Given the description of an element on the screen output the (x, y) to click on. 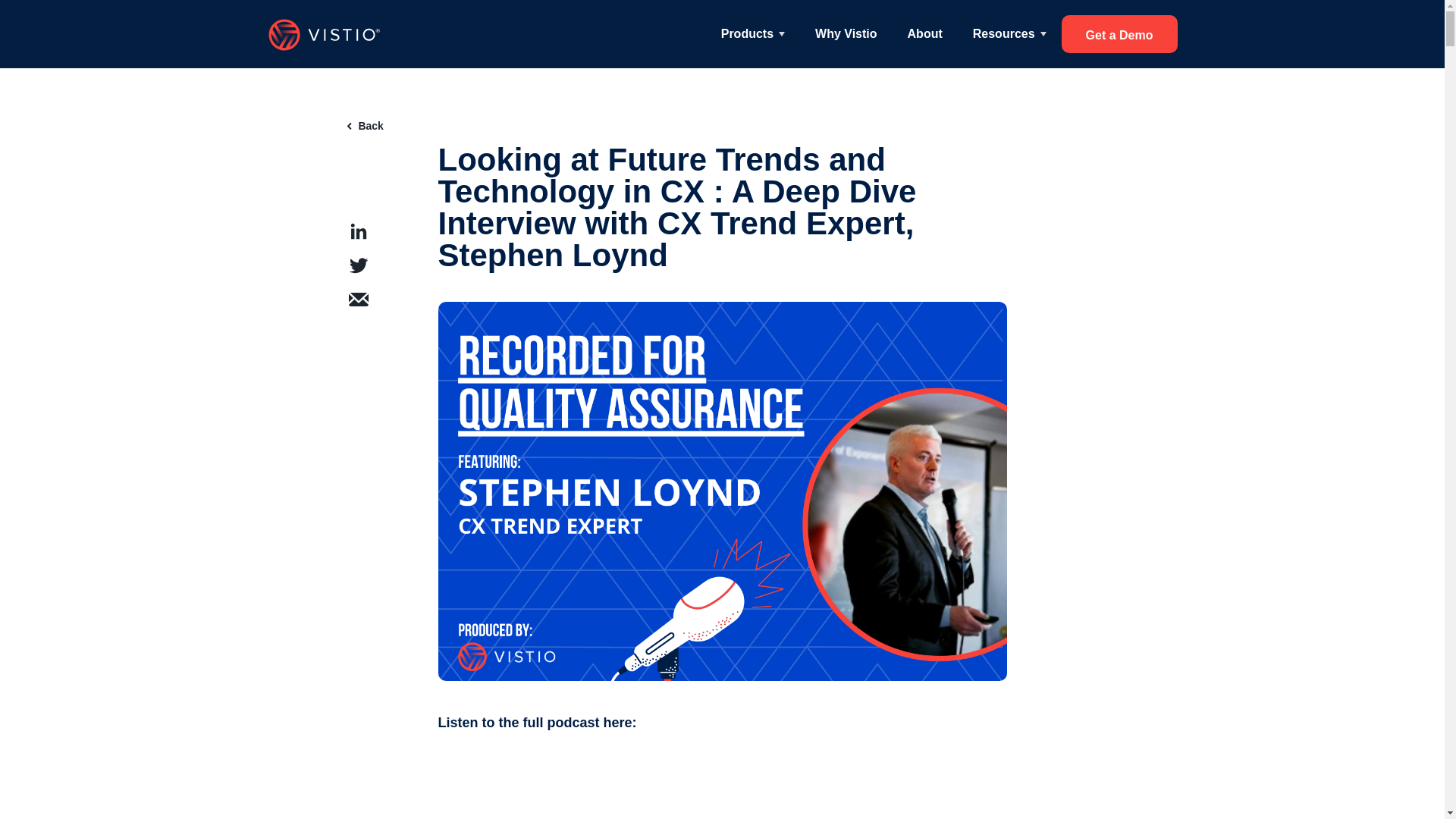
Why Vistio (846, 33)
Back (365, 125)
About (924, 33)
Get a Demo (1119, 34)
